Given the description of an element on the screen output the (x, y) to click on. 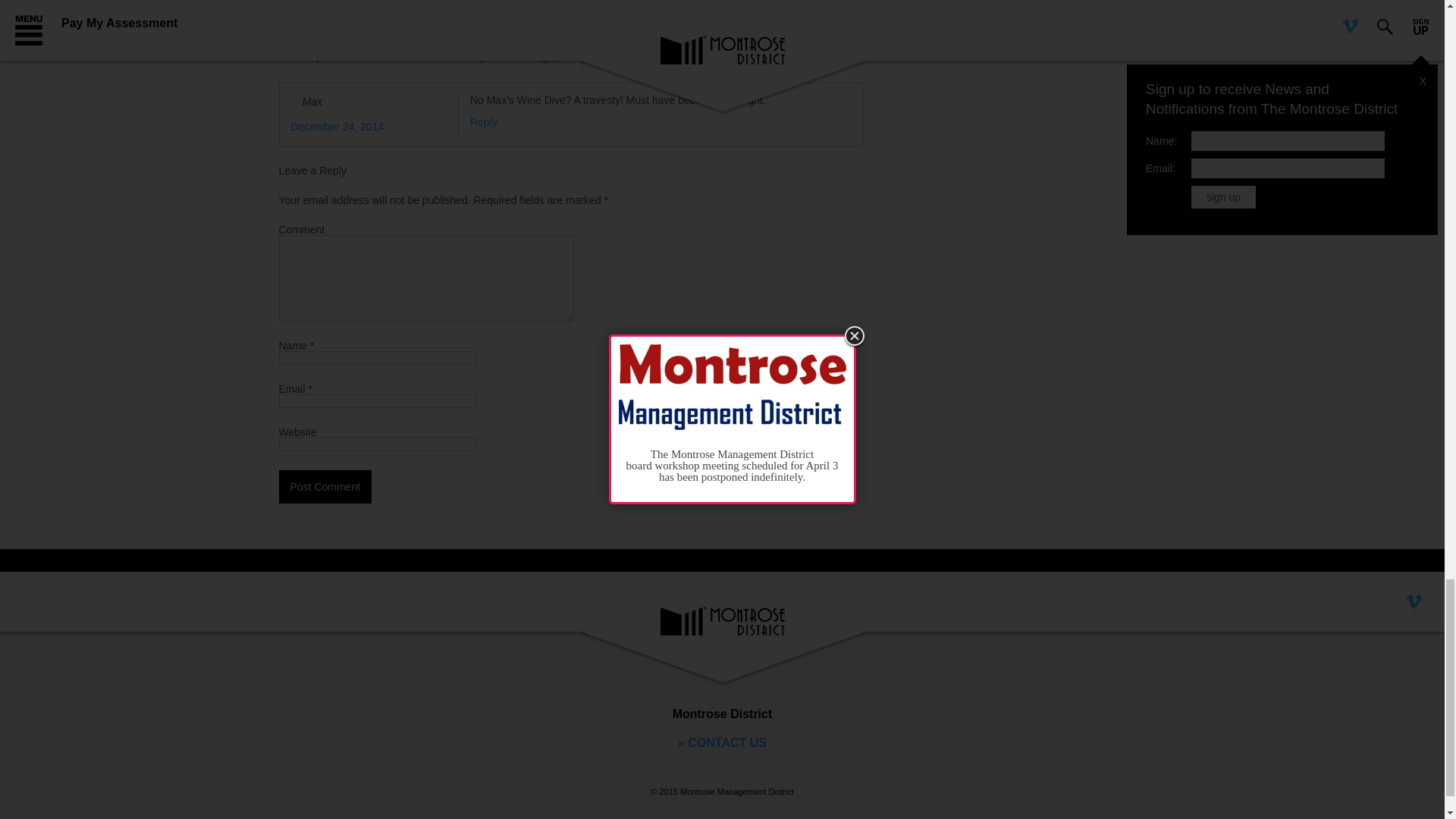
Post Comment (325, 486)
